Given the description of an element on the screen output the (x, y) to click on. 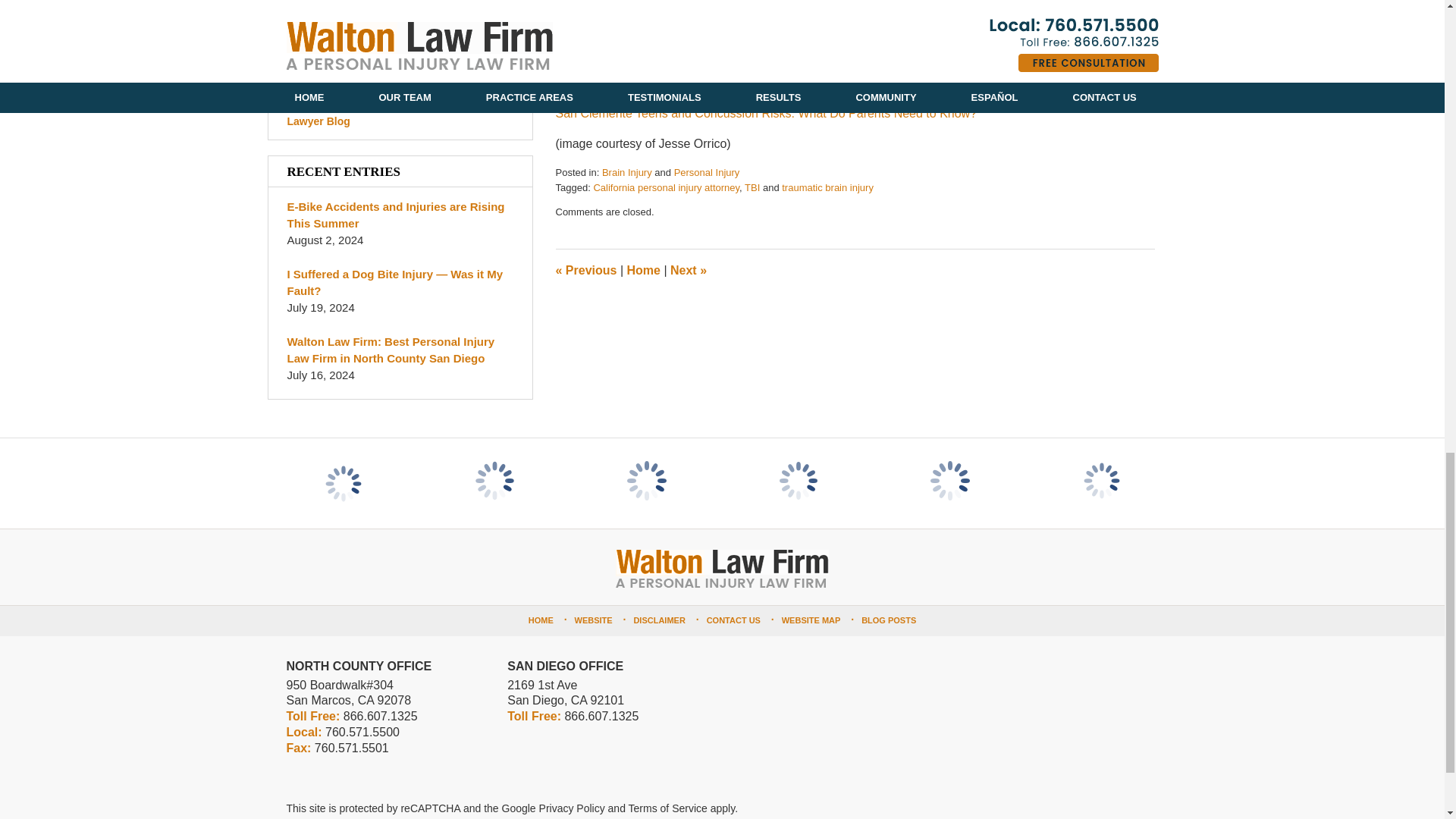
Brain Injury (627, 172)
Dozens of Children Involved in San Diego County Bus Accident (687, 269)
View all posts tagged with TBI (752, 187)
Drowning Risks for Kids in Oceanside (584, 269)
brain injury attorney in Carlsbad (816, 5)
TBI (752, 187)
Traumatic Brain Injuries Linked to Intestinal Damage (694, 82)
View all posts in Personal Injury (706, 172)
View all posts tagged with traumatic brain injury (827, 187)
